Given the description of an element on the screen output the (x, y) to click on. 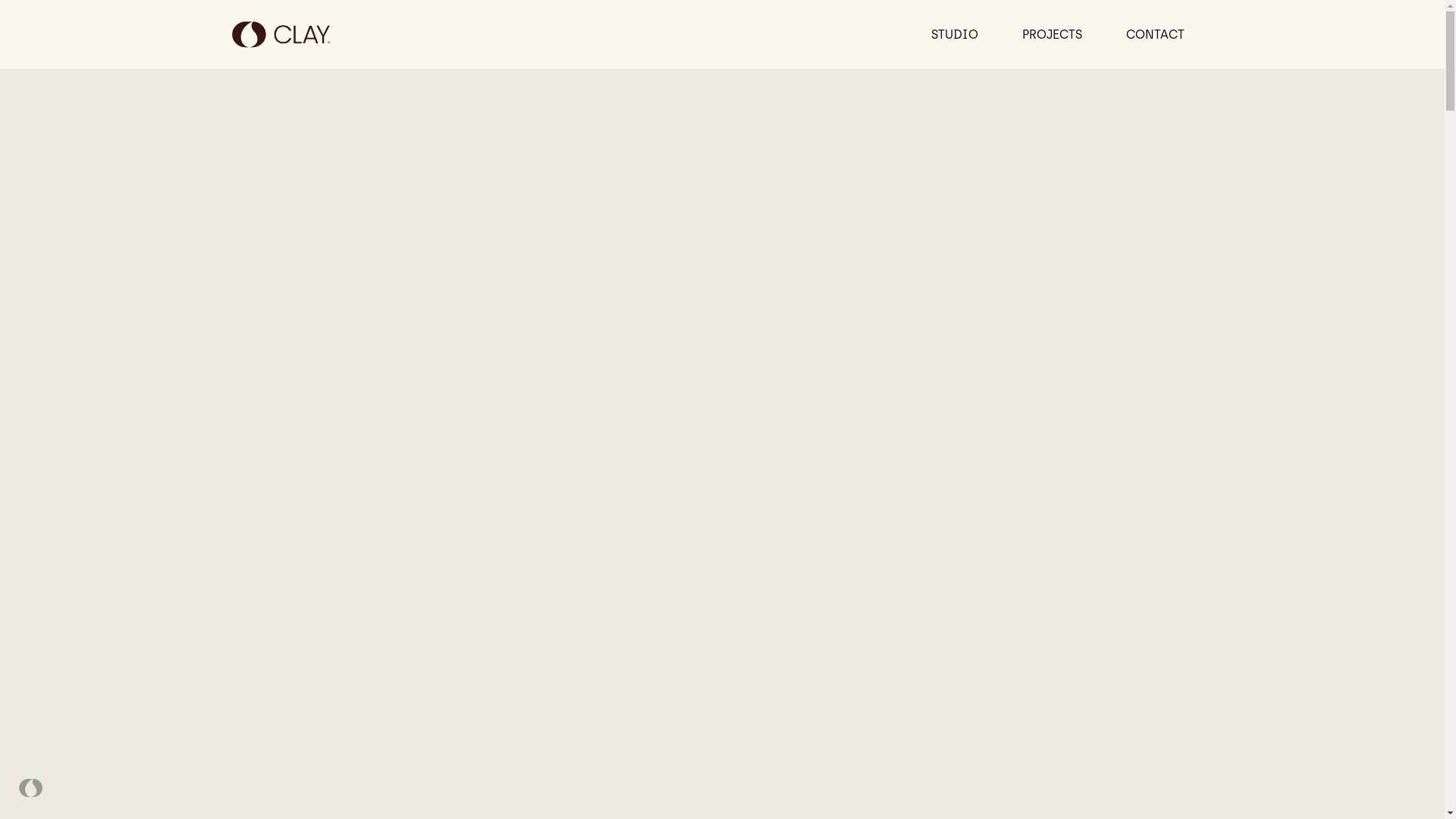
STUDIO Element type: text (954, 34)
PROJECTS Element type: text (1052, 34)
CONTACT Element type: text (1155, 34)
